Given the description of an element on the screen output the (x, y) to click on. 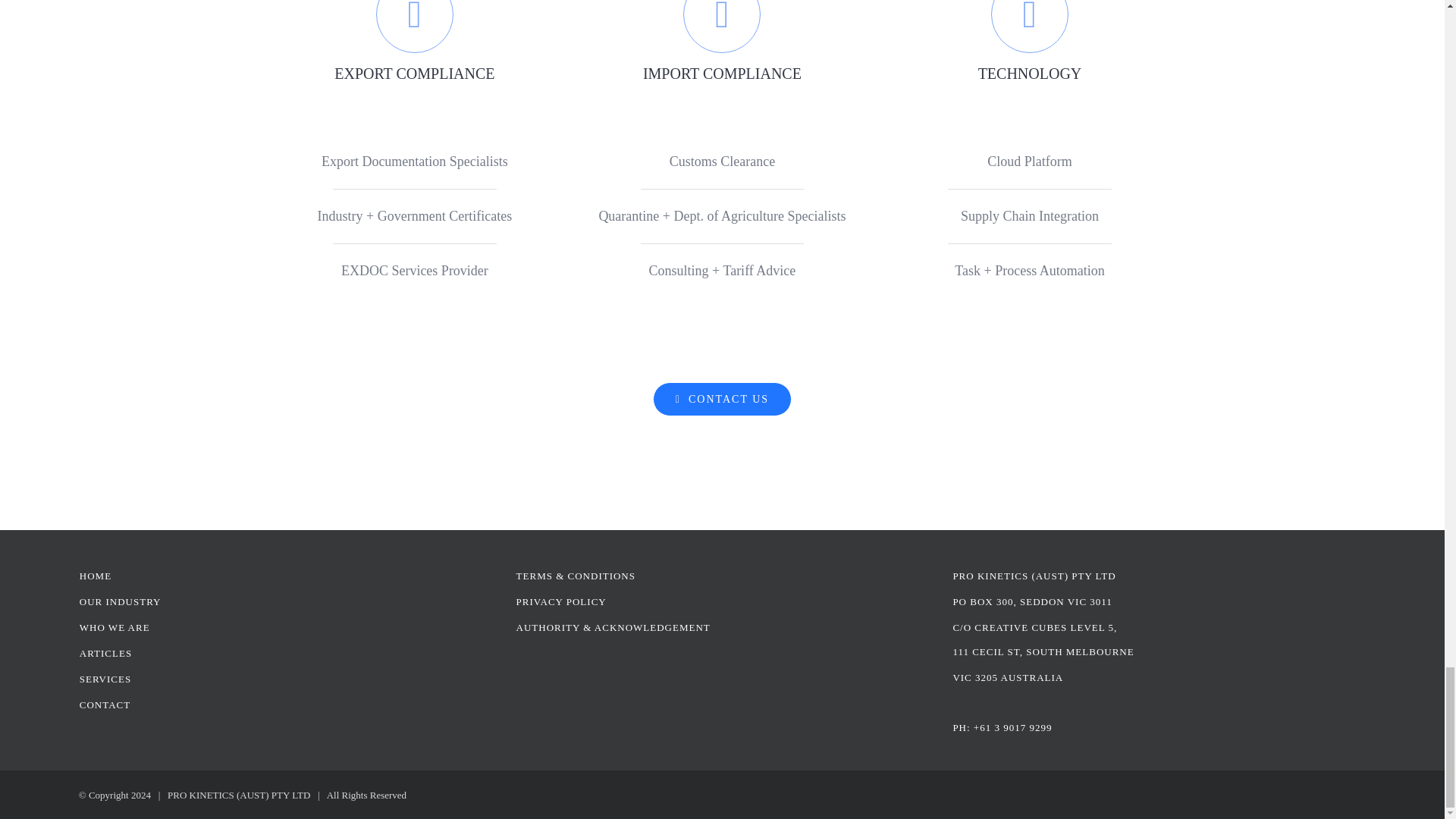
OUR INDUSTRY (120, 600)
EXPORT COMPLIANCE (415, 41)
SERVICES (105, 677)
IMPORT COMPLIANCE (722, 41)
CONTACT US (722, 399)
TECHNOLOGY (1029, 41)
WHO WE ARE (114, 626)
CONTACT (105, 703)
HOME (96, 574)
ARTICLES (106, 652)
